Given the description of an element on the screen output the (x, y) to click on. 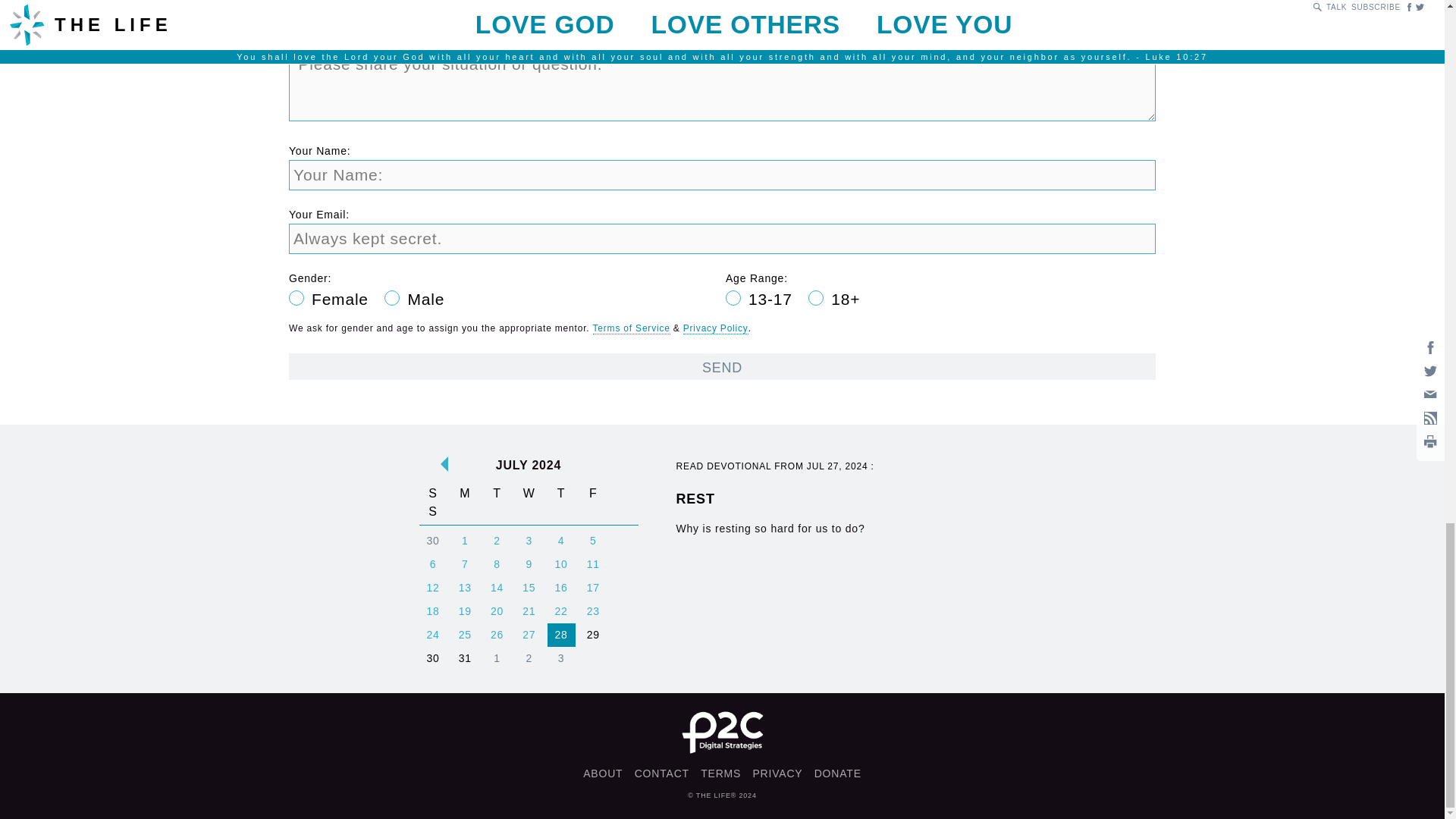
Privacy Policy (715, 328)
Send (722, 366)
ABOUT (603, 773)
Send (722, 366)
CONTACT (818, 530)
Terms of Service (661, 773)
